Given the description of an element on the screen output the (x, y) to click on. 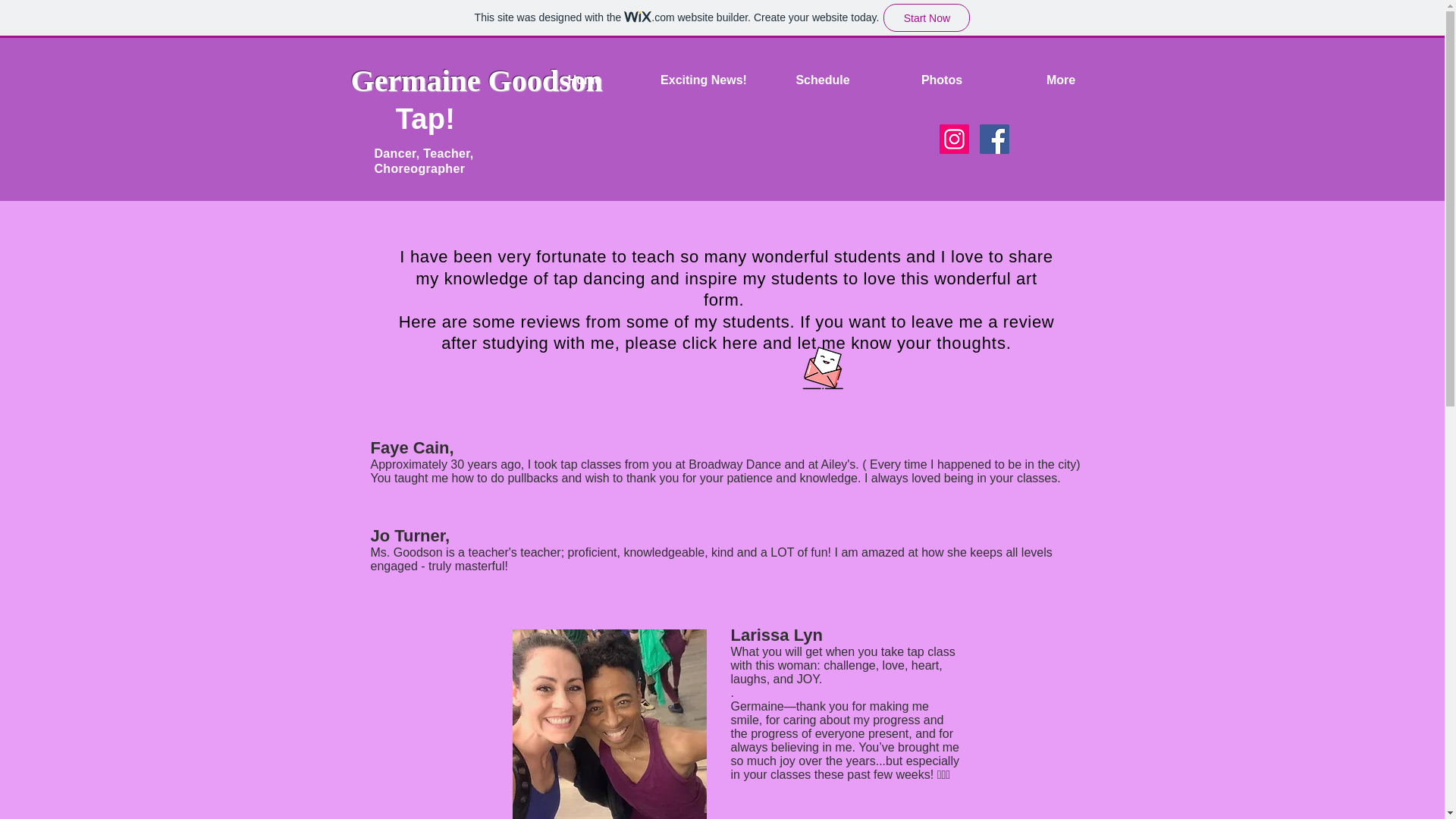
Schedule (822, 79)
Home (583, 79)
Exciting News! (703, 79)
Photos (941, 79)
Germaine Goodson  (480, 80)
